Given the description of an element on the screen output the (x, y) to click on. 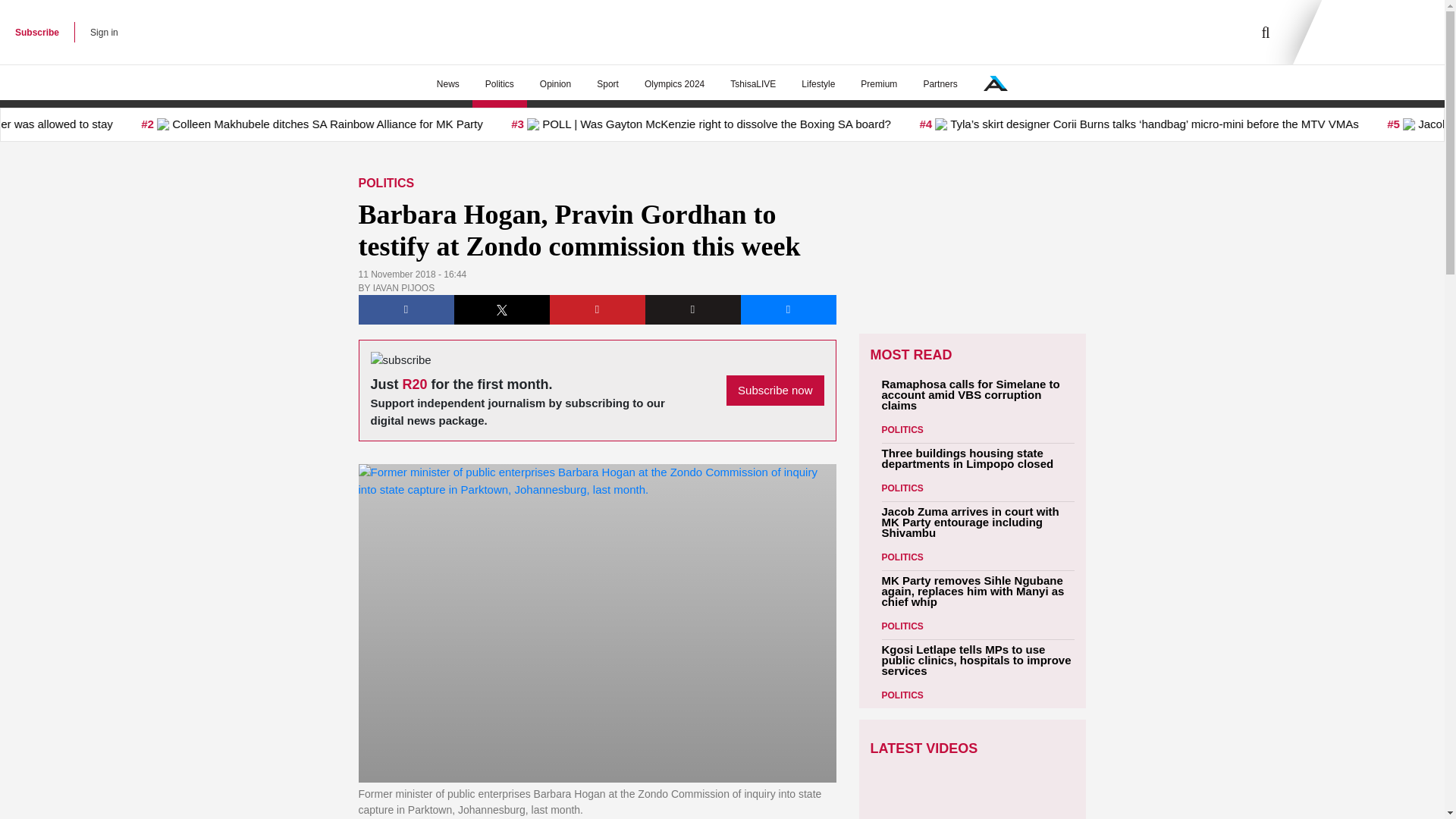
Our Network (995, 83)
Olympics 2024 (674, 84)
Lifestyle (818, 84)
Partners (939, 84)
Opinion (555, 84)
Premium (878, 84)
Subscribe (36, 32)
Politics (499, 84)
Sign in (103, 32)
News (447, 84)
